Given the description of an element on the screen output the (x, y) to click on. 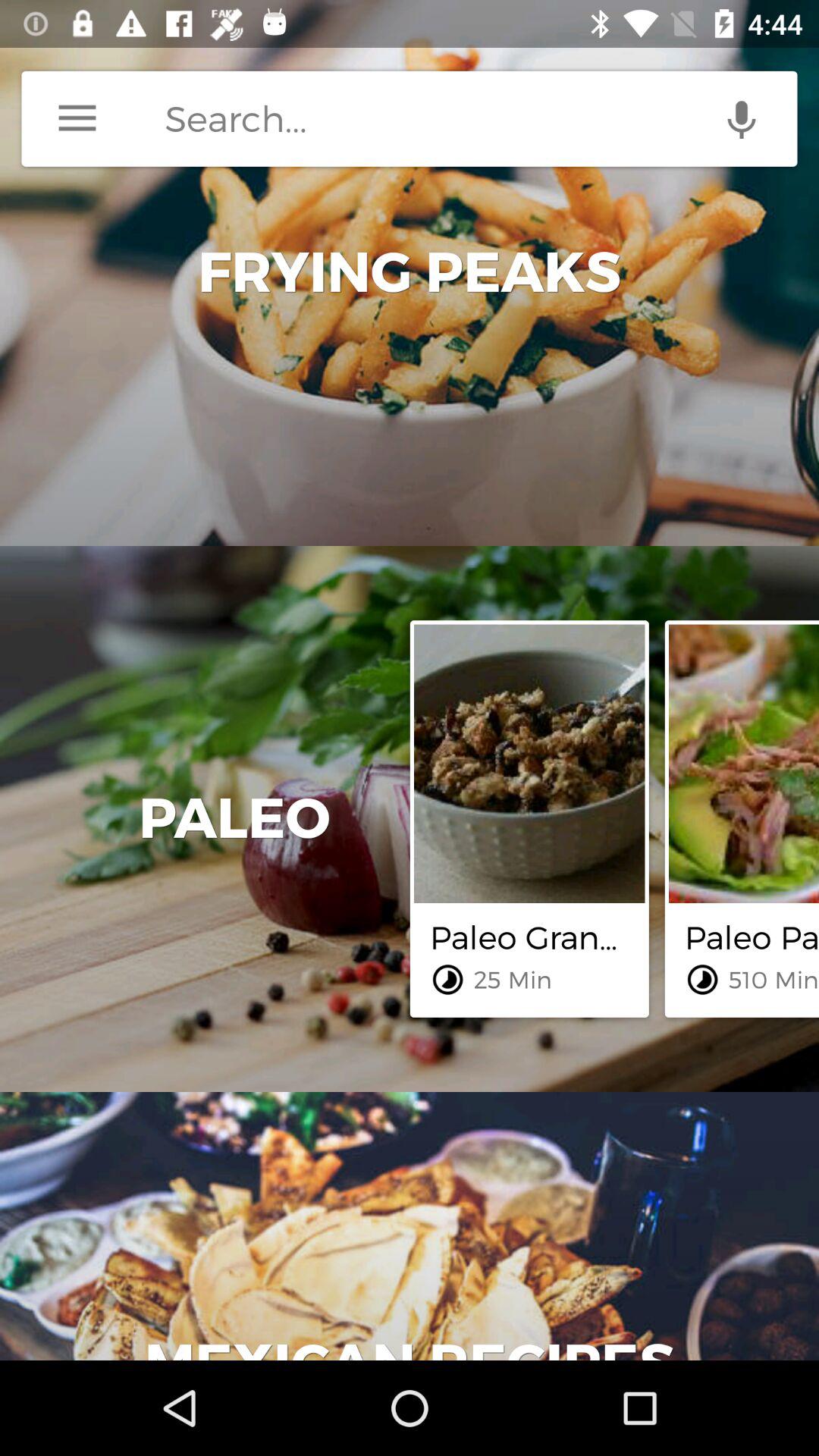
search bar (480, 118)
